Given the description of an element on the screen output the (x, y) to click on. 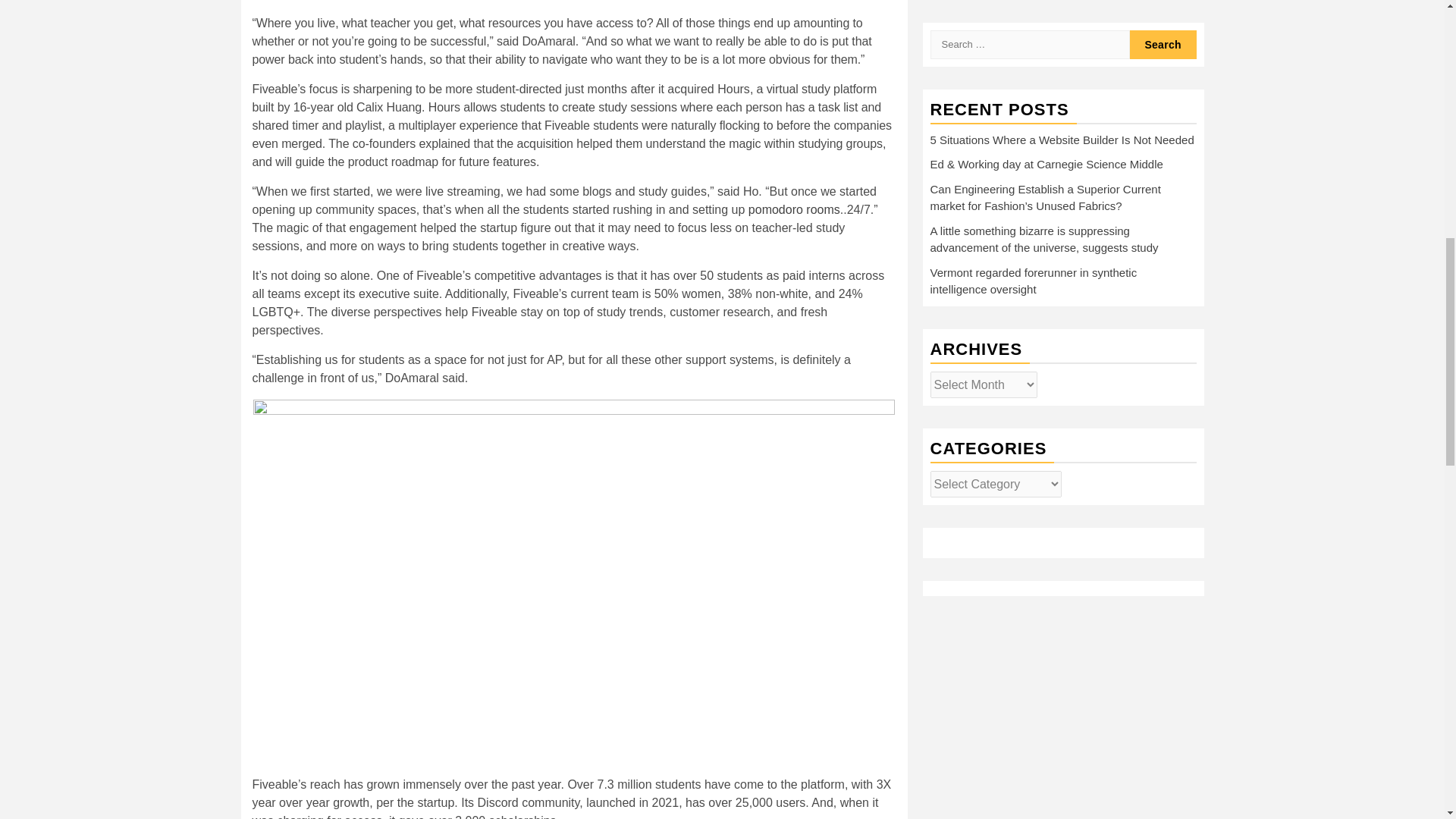
pomodoro rooms (794, 209)
